Given the description of an element on the screen output the (x, y) to click on. 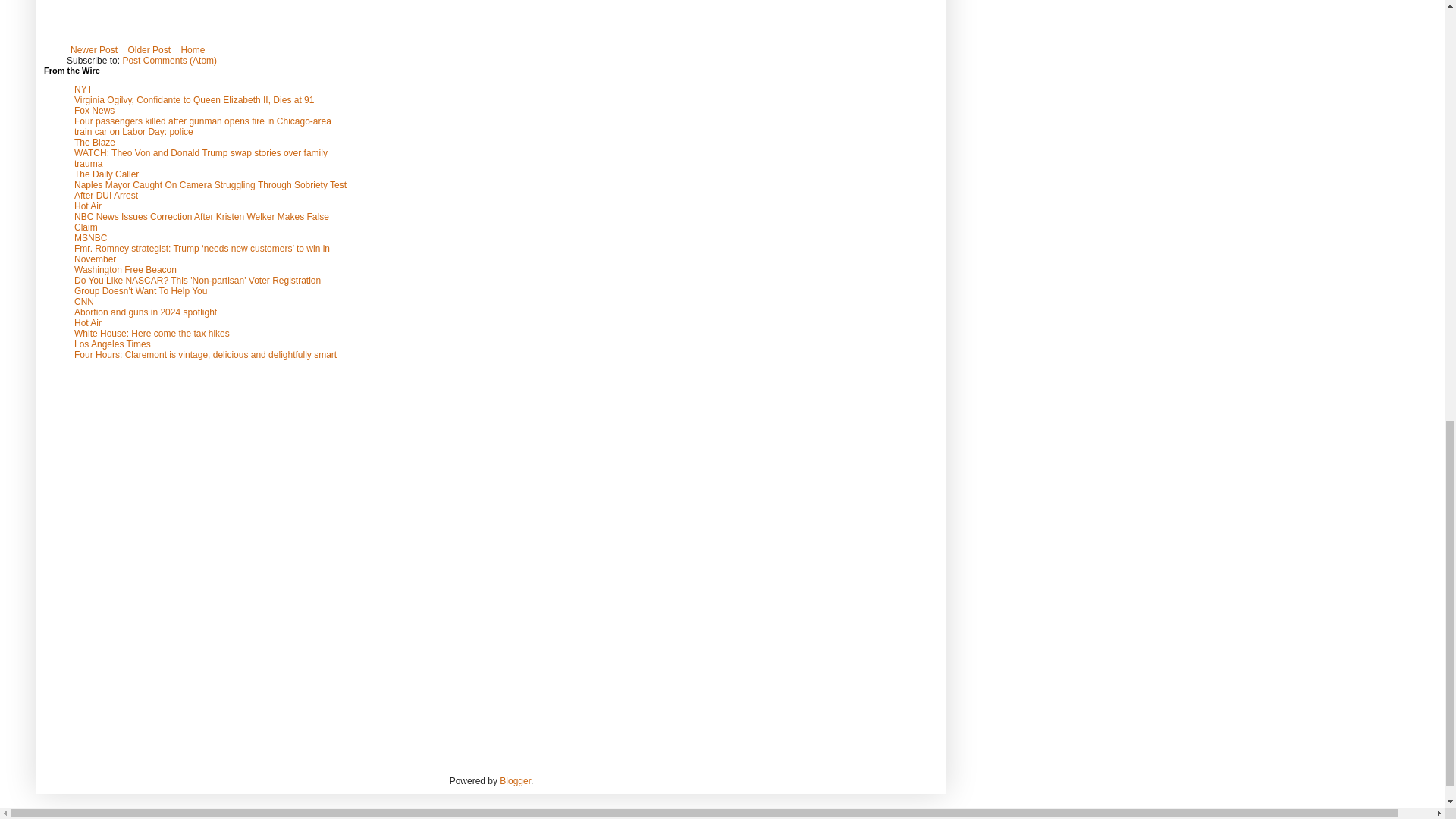
Hot Air (87, 322)
Newer Post (93, 49)
Abortion and guns in 2024 spotlight (145, 312)
Older Post (148, 49)
Fox News (94, 110)
Los Angeles Times (112, 344)
Newer Post (93, 49)
